Given the description of an element on the screen output the (x, y) to click on. 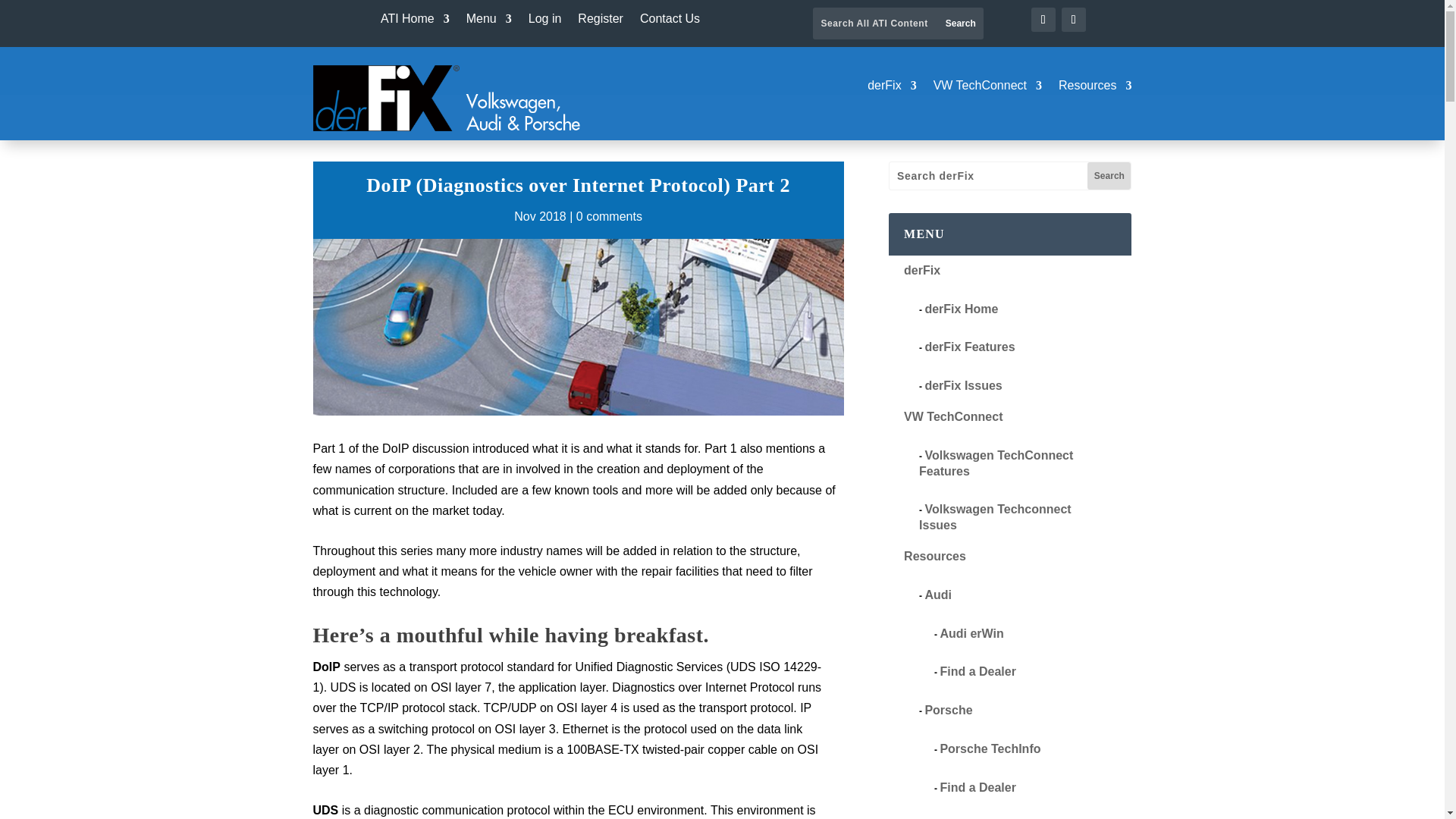
Search (960, 23)
Menu (488, 21)
Follow on Facebook (1042, 19)
Search (1109, 175)
Register (600, 21)
DoIP-Part-2 (578, 327)
Search (960, 23)
Contact Us (670, 21)
Search (1109, 175)
derFix-logo-r-300x (449, 98)
Follow on X (1073, 19)
ATI Home (414, 21)
Log in (545, 21)
